Given the description of an element on the screen output the (x, y) to click on. 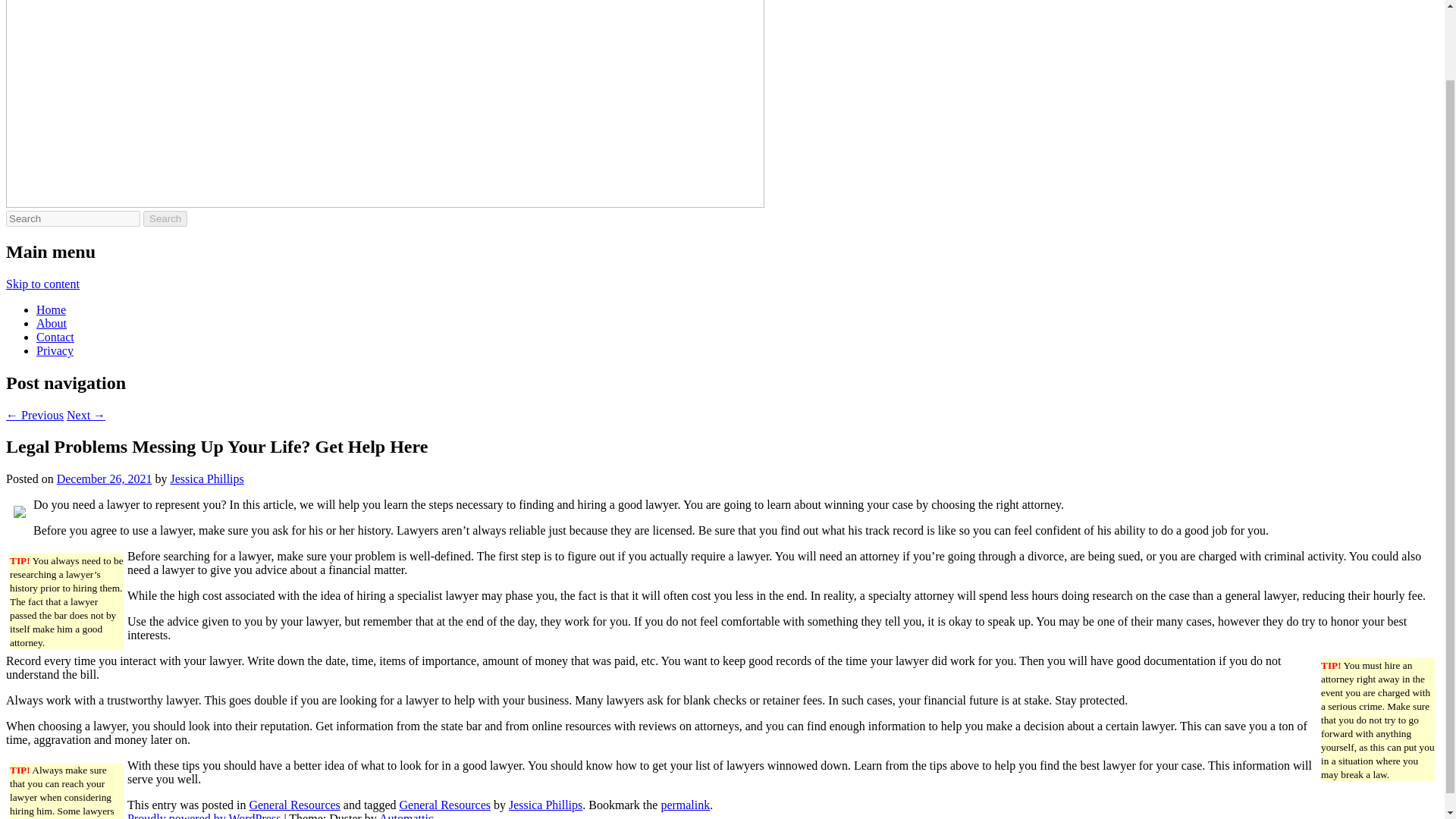
Skip to content (42, 283)
Search (164, 218)
View all posts by Jessica Phillips (206, 478)
Contact (55, 336)
Search (164, 218)
Privacy (55, 350)
Skip to content (42, 283)
Jessica Phillips (545, 804)
About (51, 323)
